Given the description of an element on the screen output the (x, y) to click on. 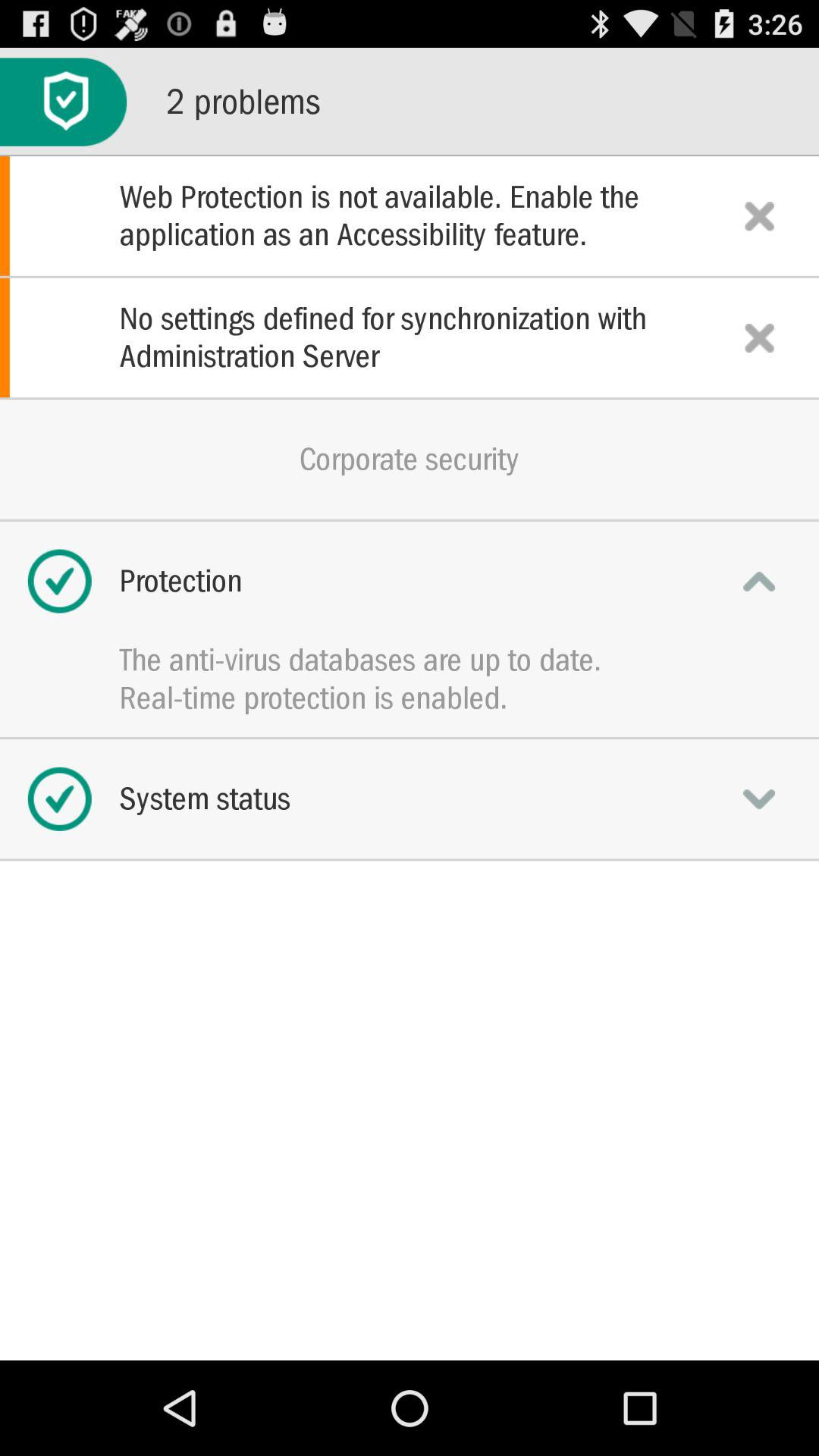
jump until the real time protection (409, 698)
